Given the description of an element on the screen output the (x, y) to click on. 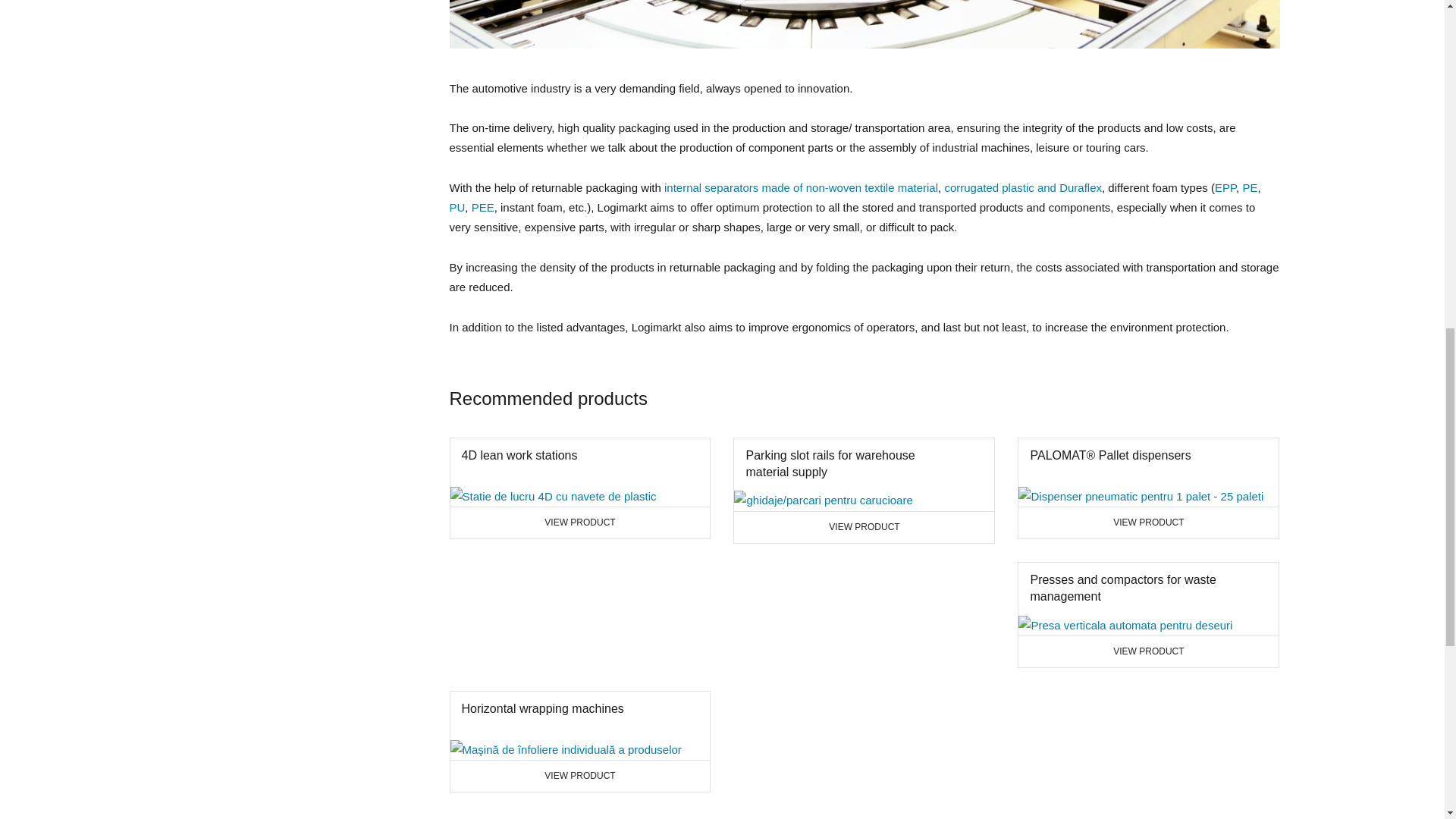
PE (1249, 187)
EPP (1225, 187)
Presa verticala automata pentru deseuri (1147, 804)
internal separators made of non-woven textile material (800, 187)
PEE (1148, 777)
Ghidaje pentru carucioare (483, 206)
corrugated plastic and Duraflex (579, 575)
